Given the description of an element on the screen output the (x, y) to click on. 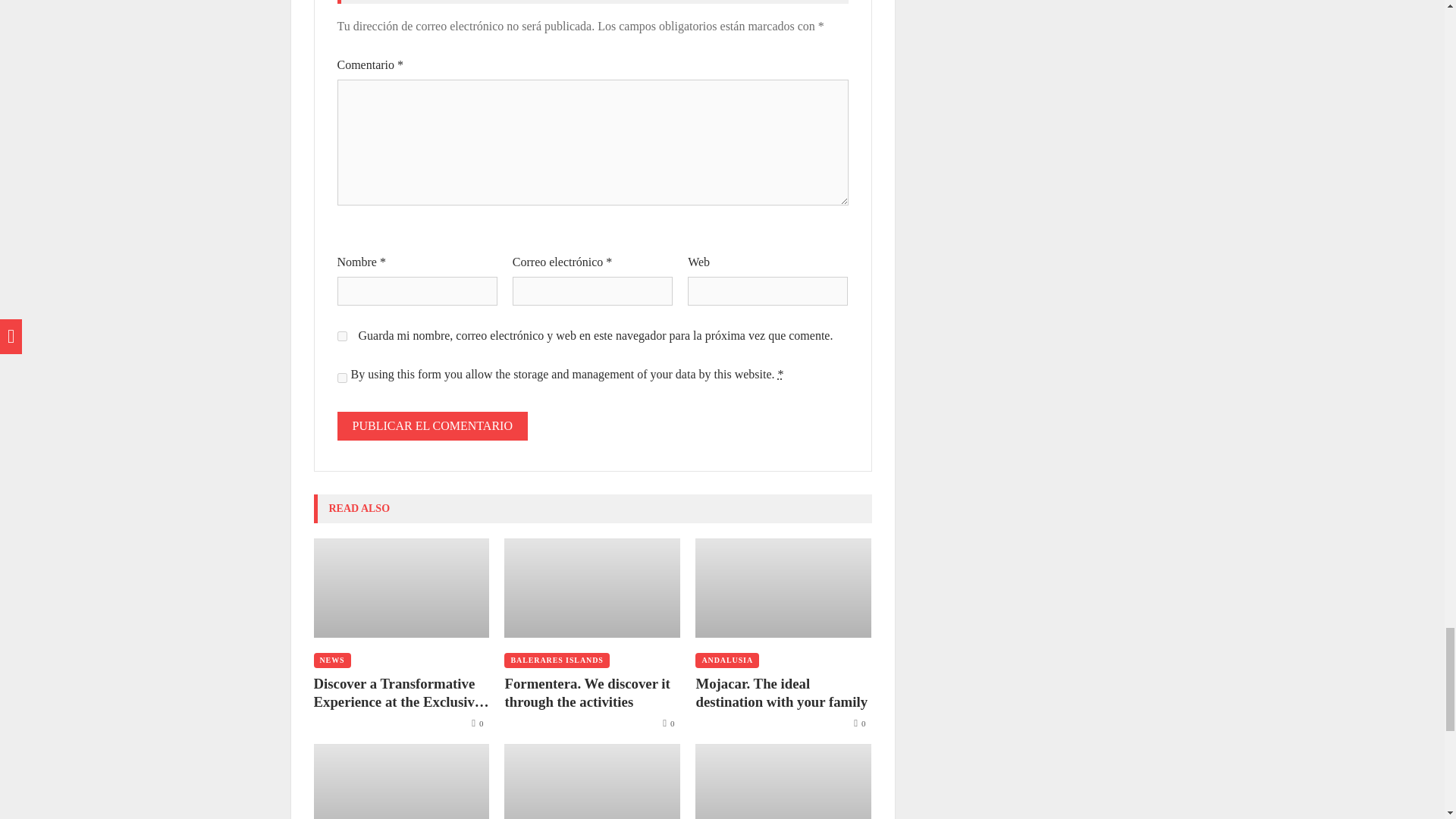
yes (341, 336)
Publicar el comentario (431, 425)
